Given the description of an element on the screen output the (x, y) to click on. 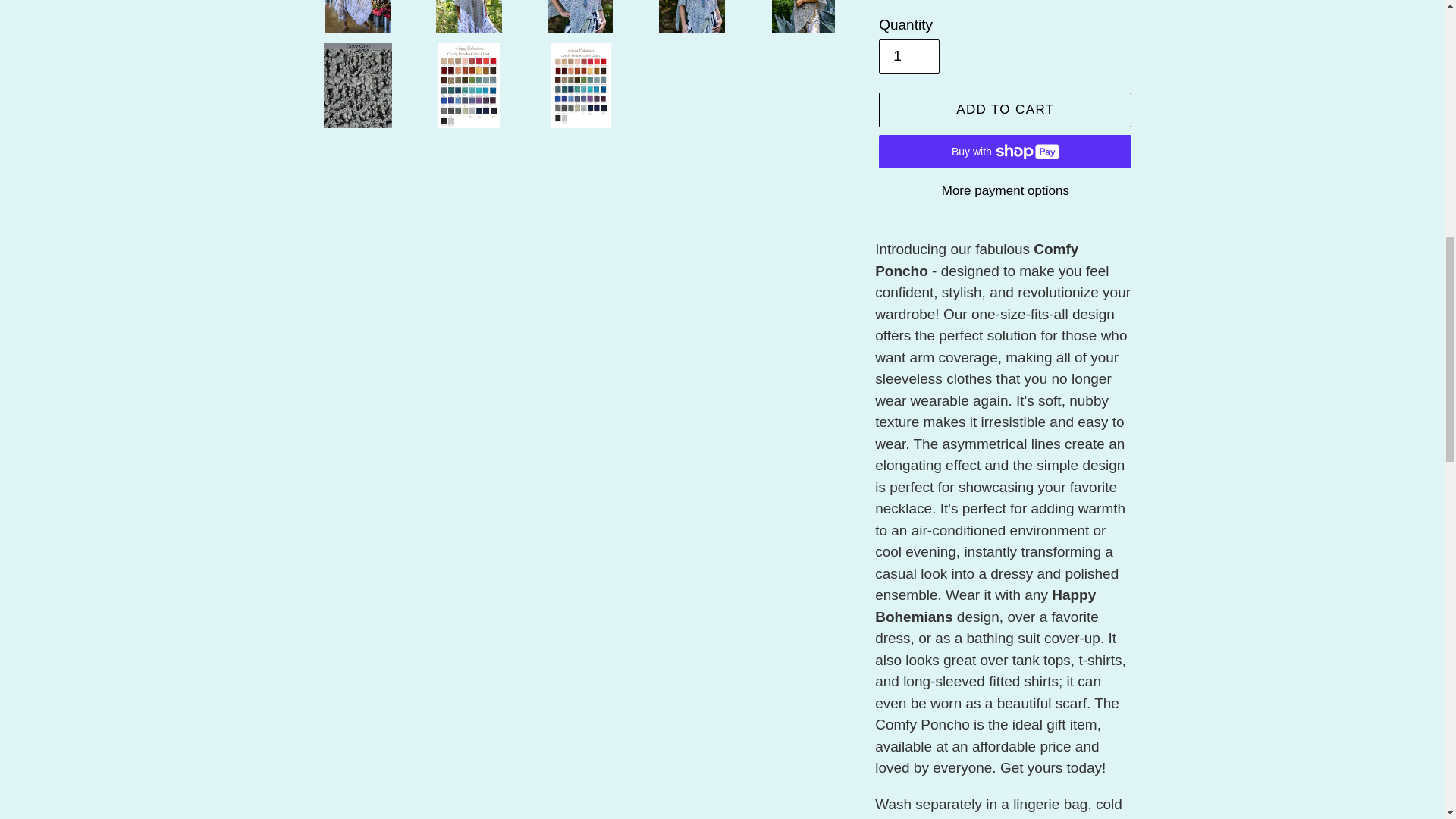
1 (909, 56)
